Given the description of an element on the screen output the (x, y) to click on. 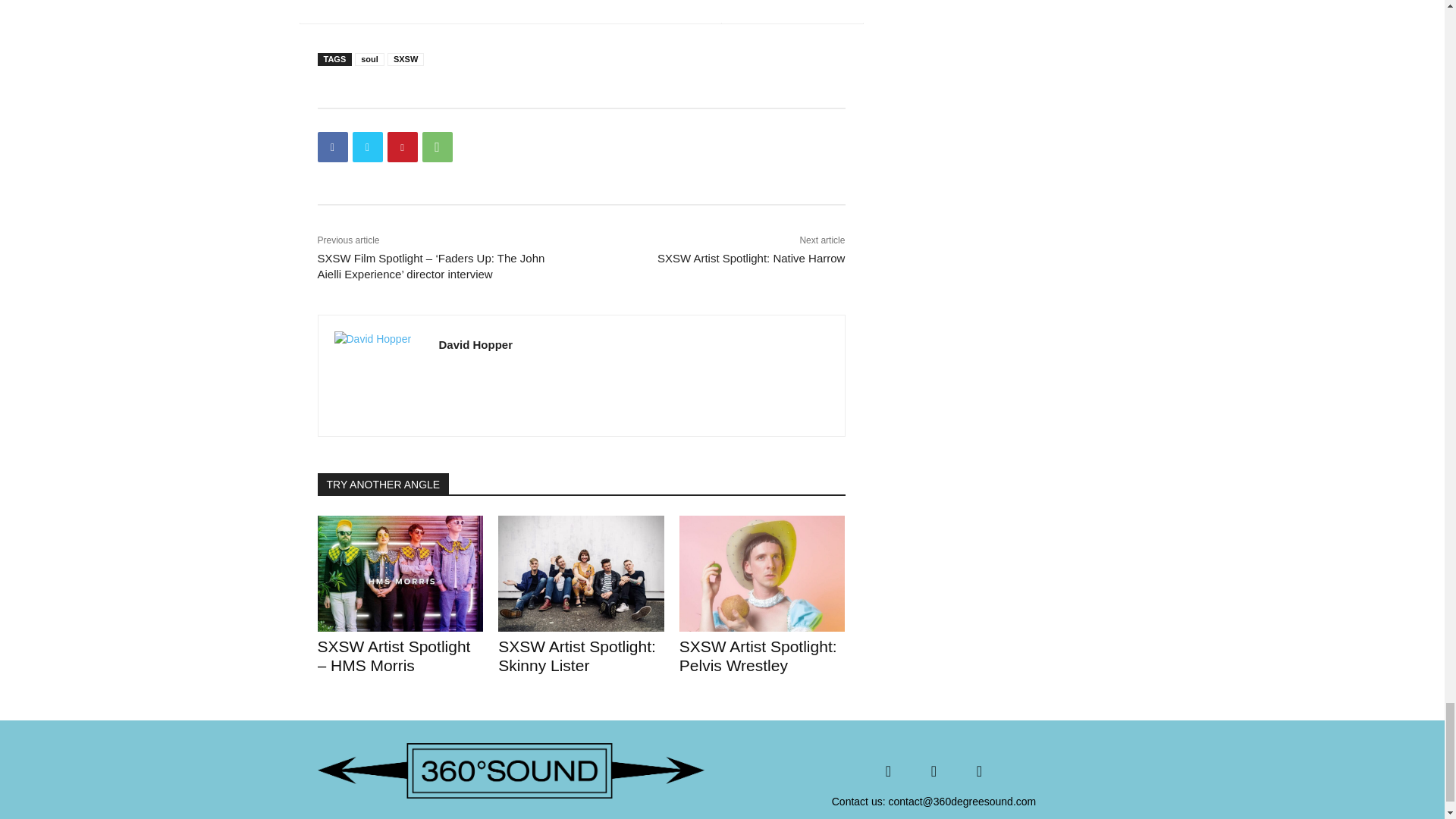
Twitter (366, 146)
soul (369, 59)
Facebook (332, 146)
